Given the description of an element on the screen output the (x, y) to click on. 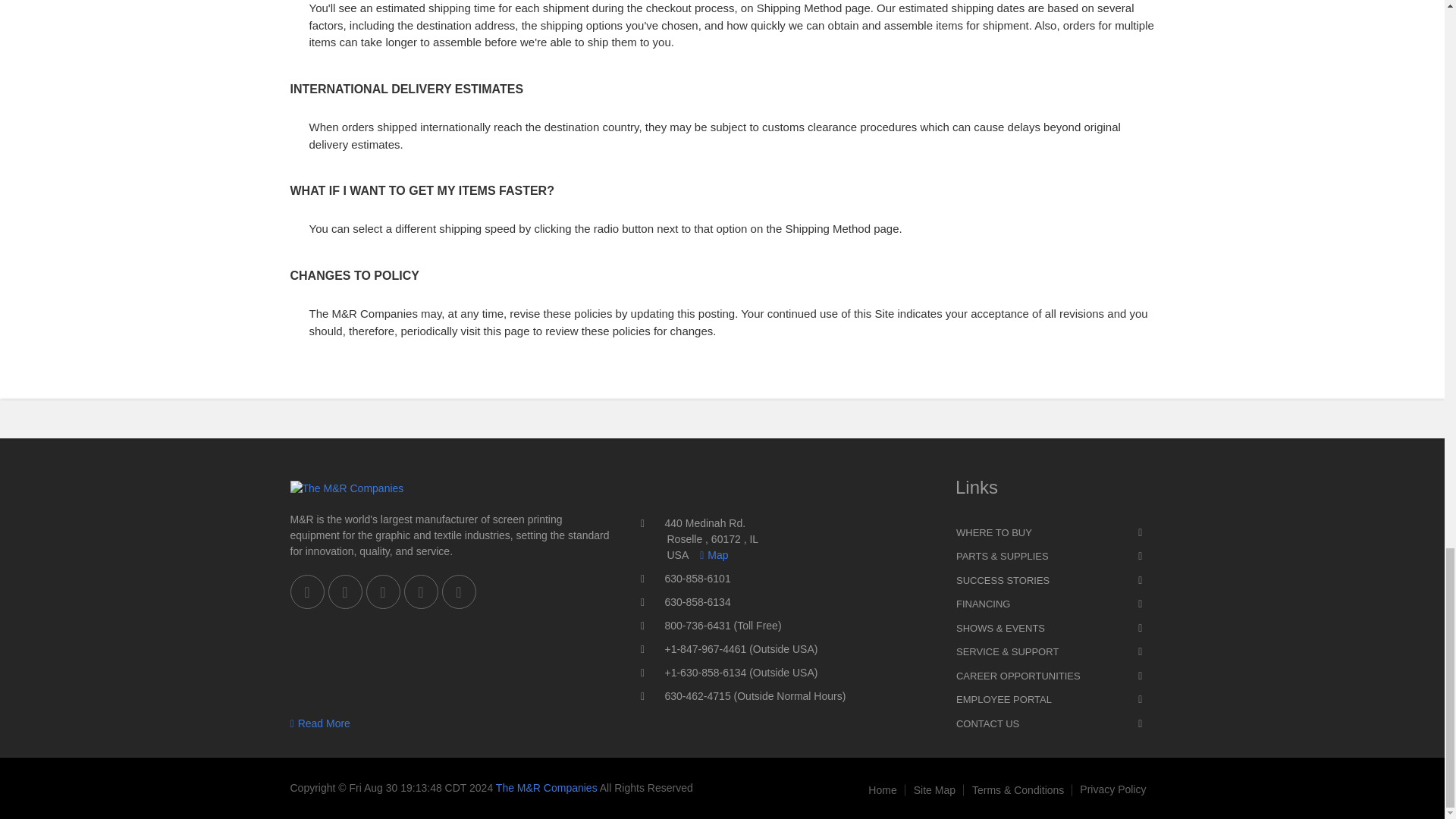
Visit our Youtube channel (344, 591)
Visit out Instagram channel (458, 591)
Visit our Linkedin page (381, 591)
Tweet (420, 591)
Share on Facebook (306, 591)
